Given the description of an element on the screen output the (x, y) to click on. 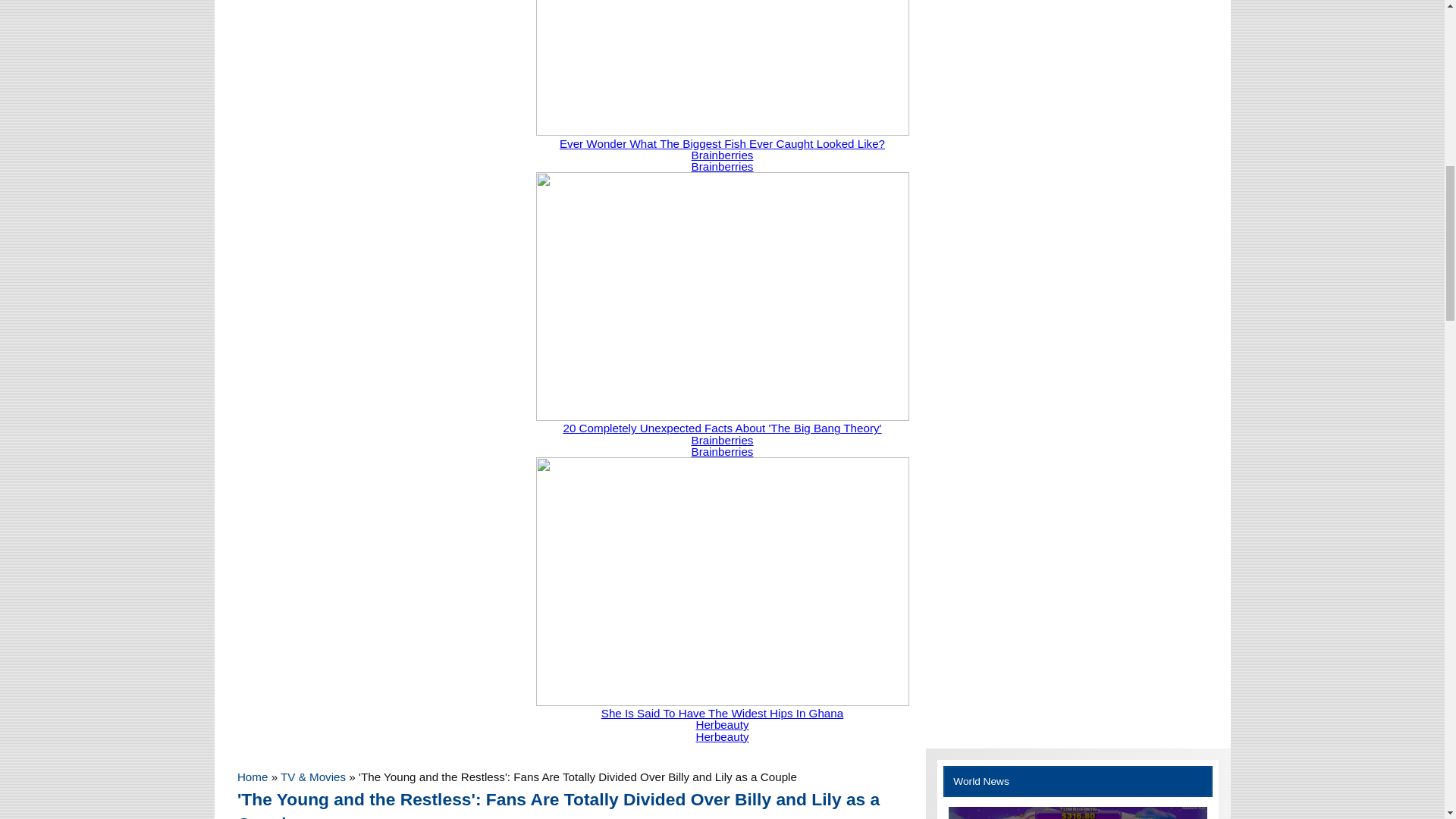
The Guide to Winning Big in Sweet Bonanza Online Slot (1078, 812)
Home (252, 776)
